Given the description of an element on the screen output the (x, y) to click on. 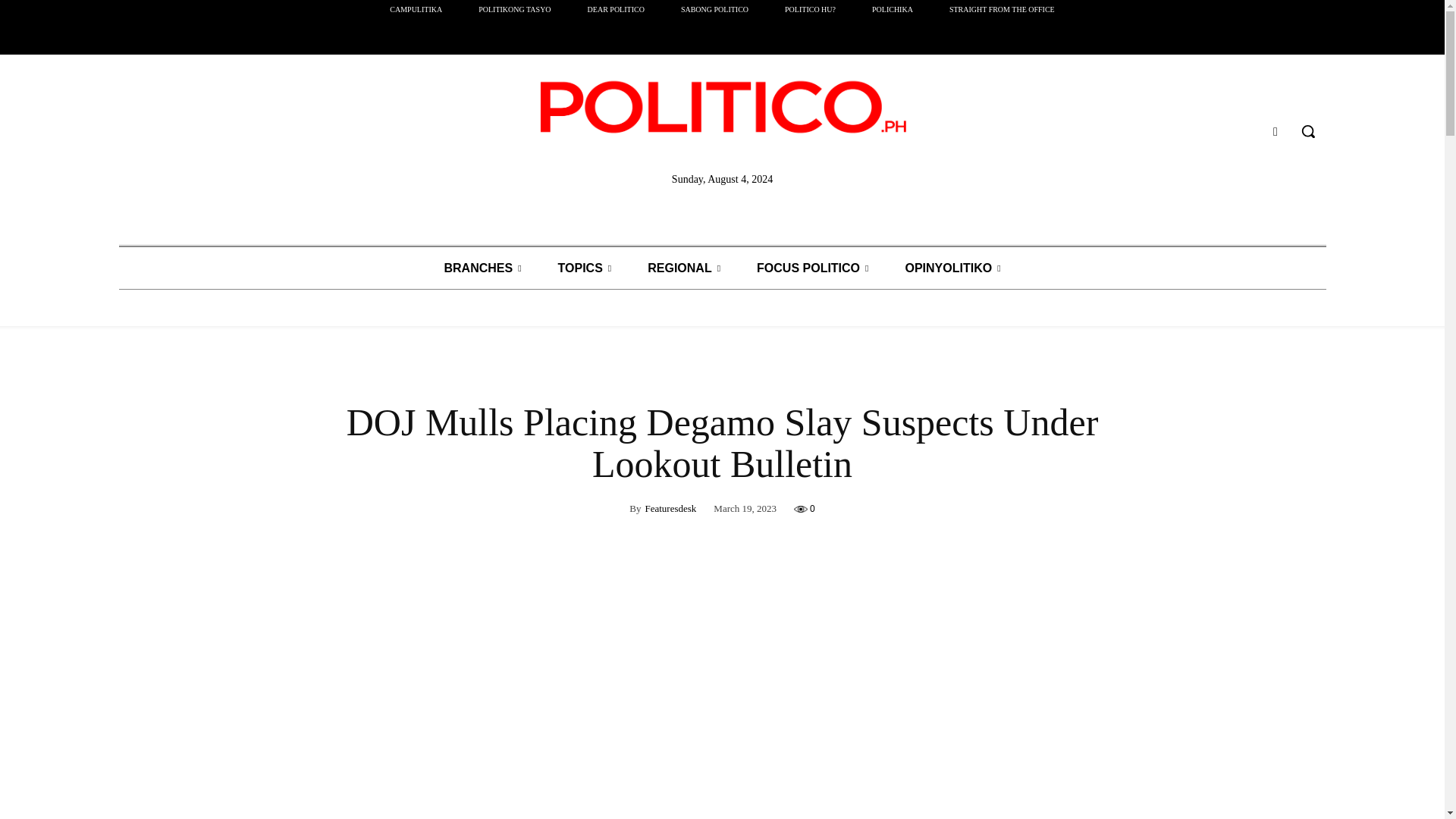
Facebook (1275, 131)
